Given the description of an element on the screen output the (x, y) to click on. 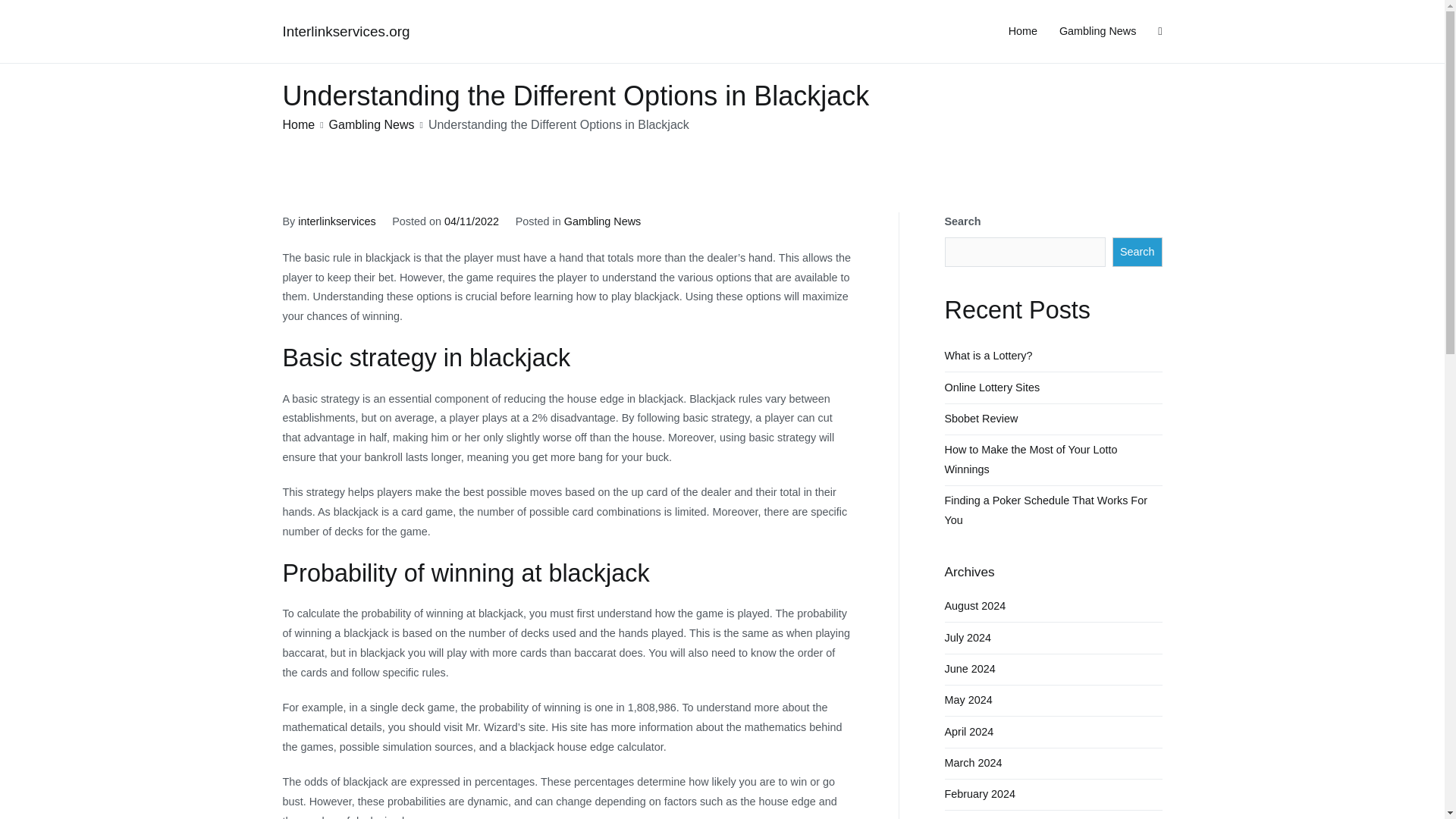
April 2024 (969, 731)
June 2024 (969, 669)
February 2024 (980, 794)
Home (298, 124)
May 2024 (968, 700)
Search (1136, 251)
Interlinkservices.org (345, 31)
Gambling News (371, 124)
How to Make the Most of Your Lotto Winnings (1052, 459)
interlinkservices (336, 221)
Sbobet Review (980, 419)
Search (28, 13)
Online Lottery Sites (992, 387)
Home (1022, 31)
Gambling News (603, 221)
